Given the description of an element on the screen output the (x, y) to click on. 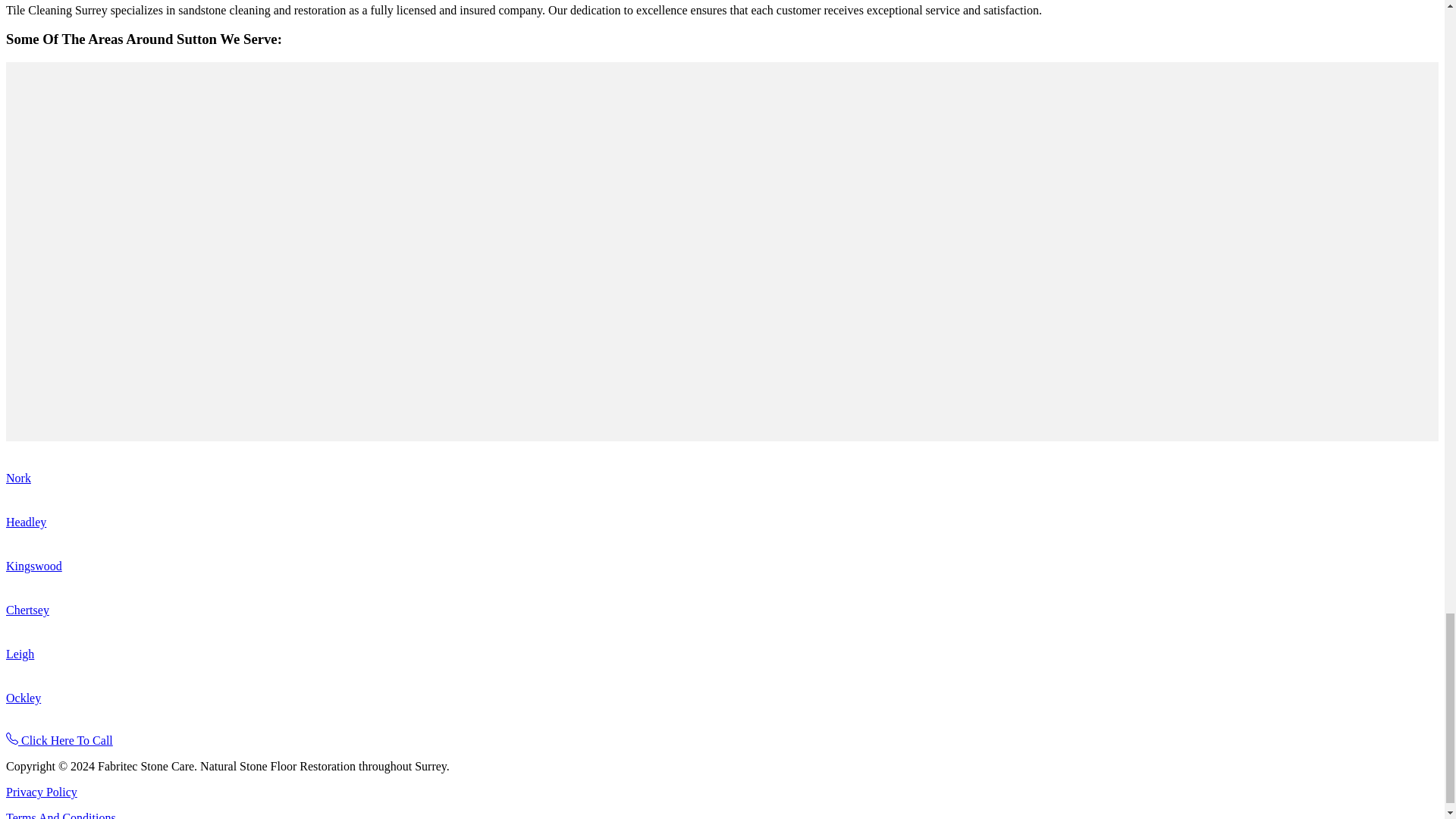
Kingswood (33, 565)
Chertsey (27, 609)
: (11, 738)
Chertsey (27, 609)
Kingswood (33, 565)
Leigh (19, 653)
Nork (17, 477)
Nork (17, 477)
Ockley (22, 697)
: Click Here To Call (59, 739)
